Given the description of an element on the screen output the (x, y) to click on. 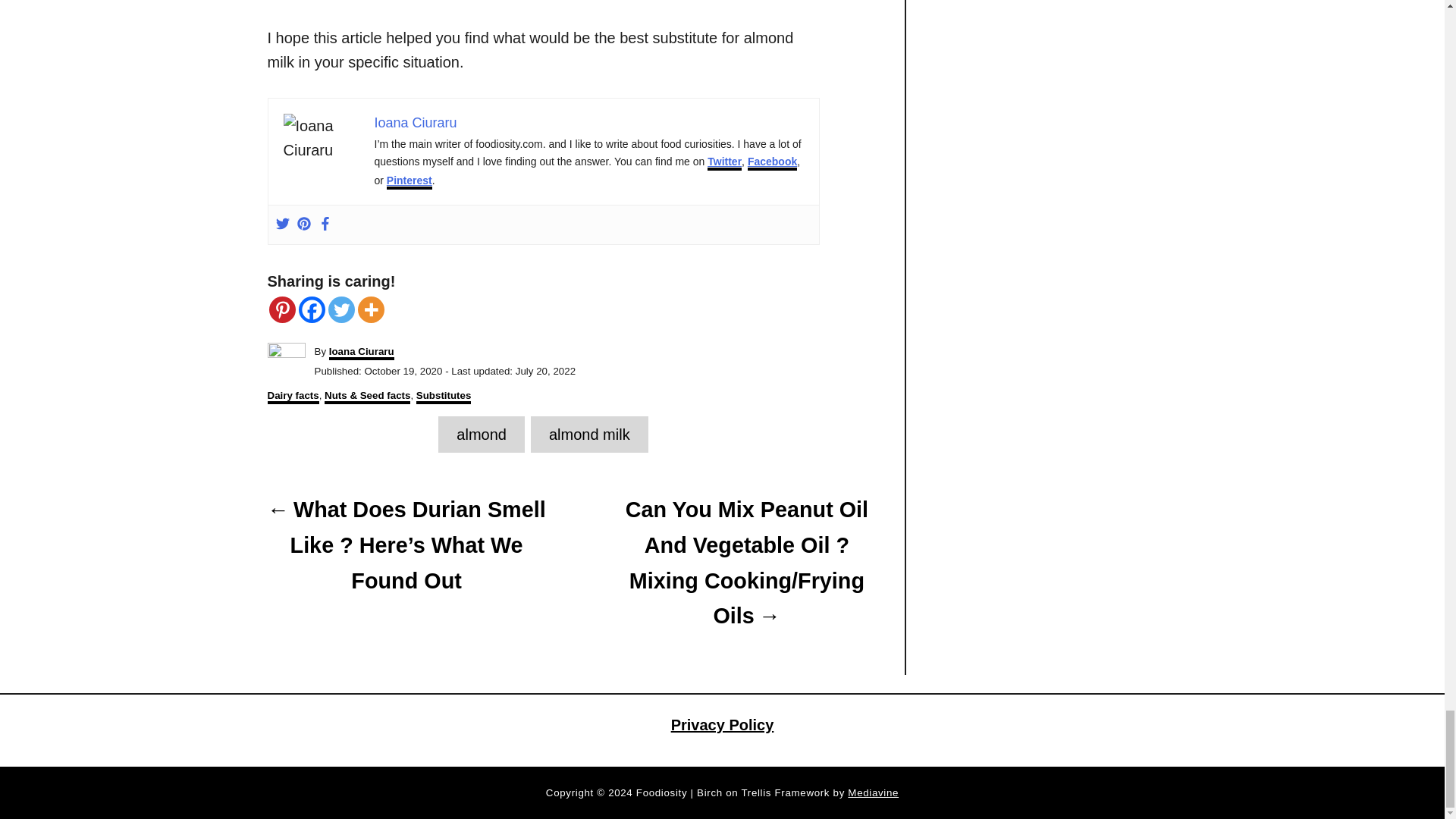
Pinterest (281, 309)
More (371, 309)
Twitter (340, 309)
Facebook (311, 309)
